Given the description of an element on the screen output the (x, y) to click on. 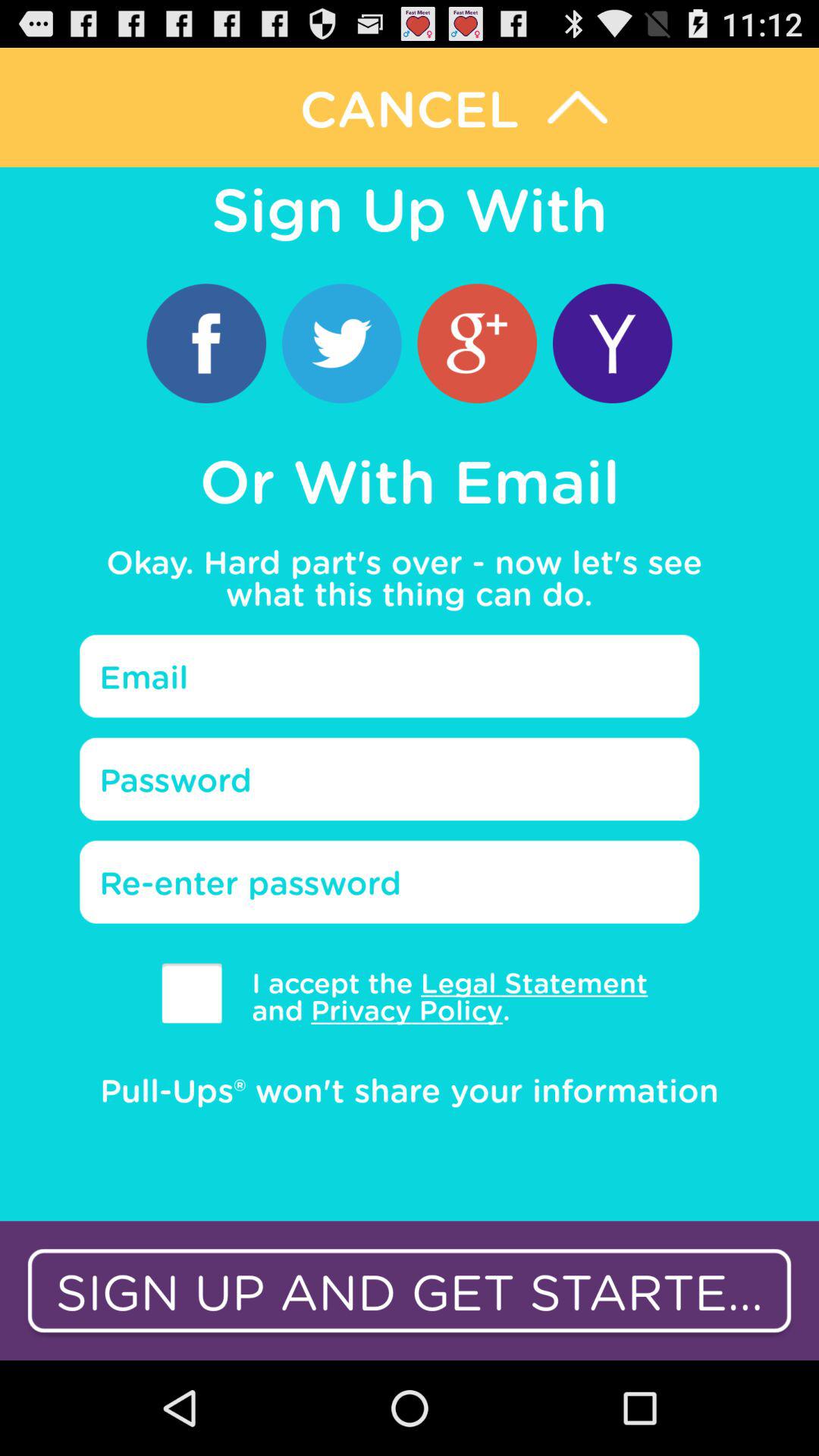
tap app above pull ups won item (438, 995)
